Given the description of an element on the screen output the (x, y) to click on. 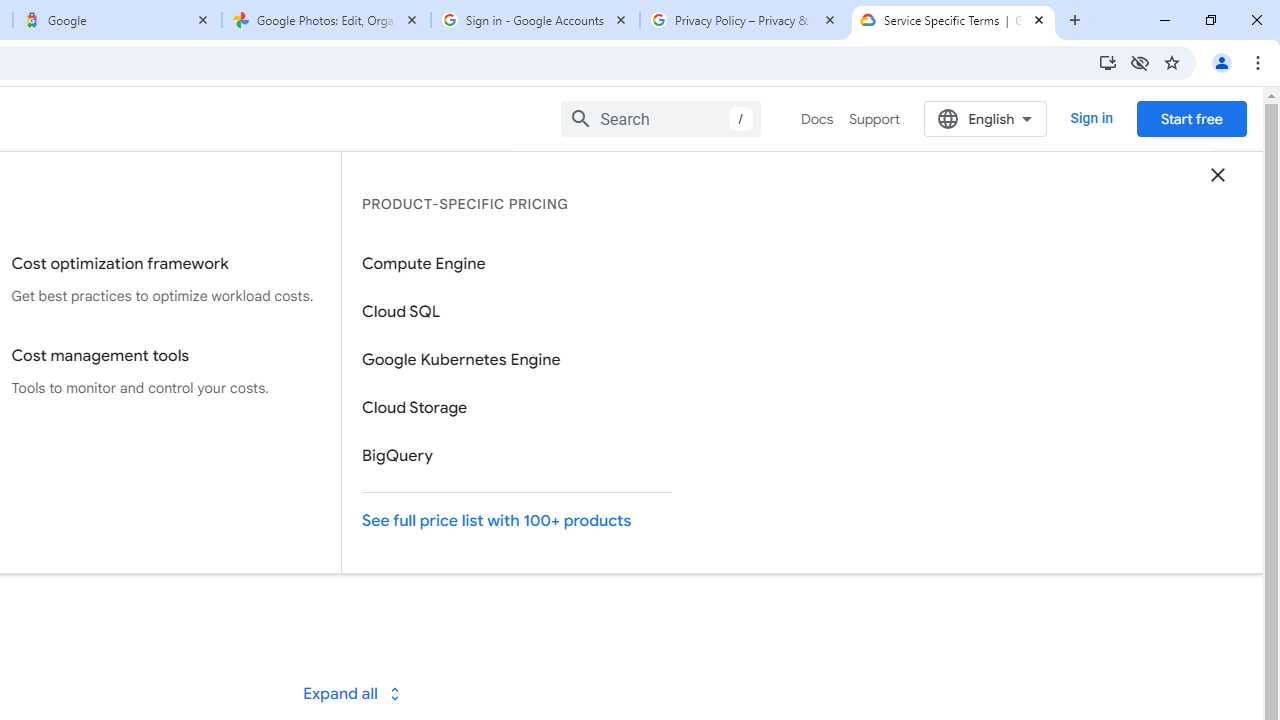
Sign in - Google Accounts (535, 20)
Compute Engine (517, 263)
English (985, 118)
Support (874, 119)
Google Kubernetes Engine (517, 359)
Google (116, 20)
